Given the description of an element on the screen output the (x, y) to click on. 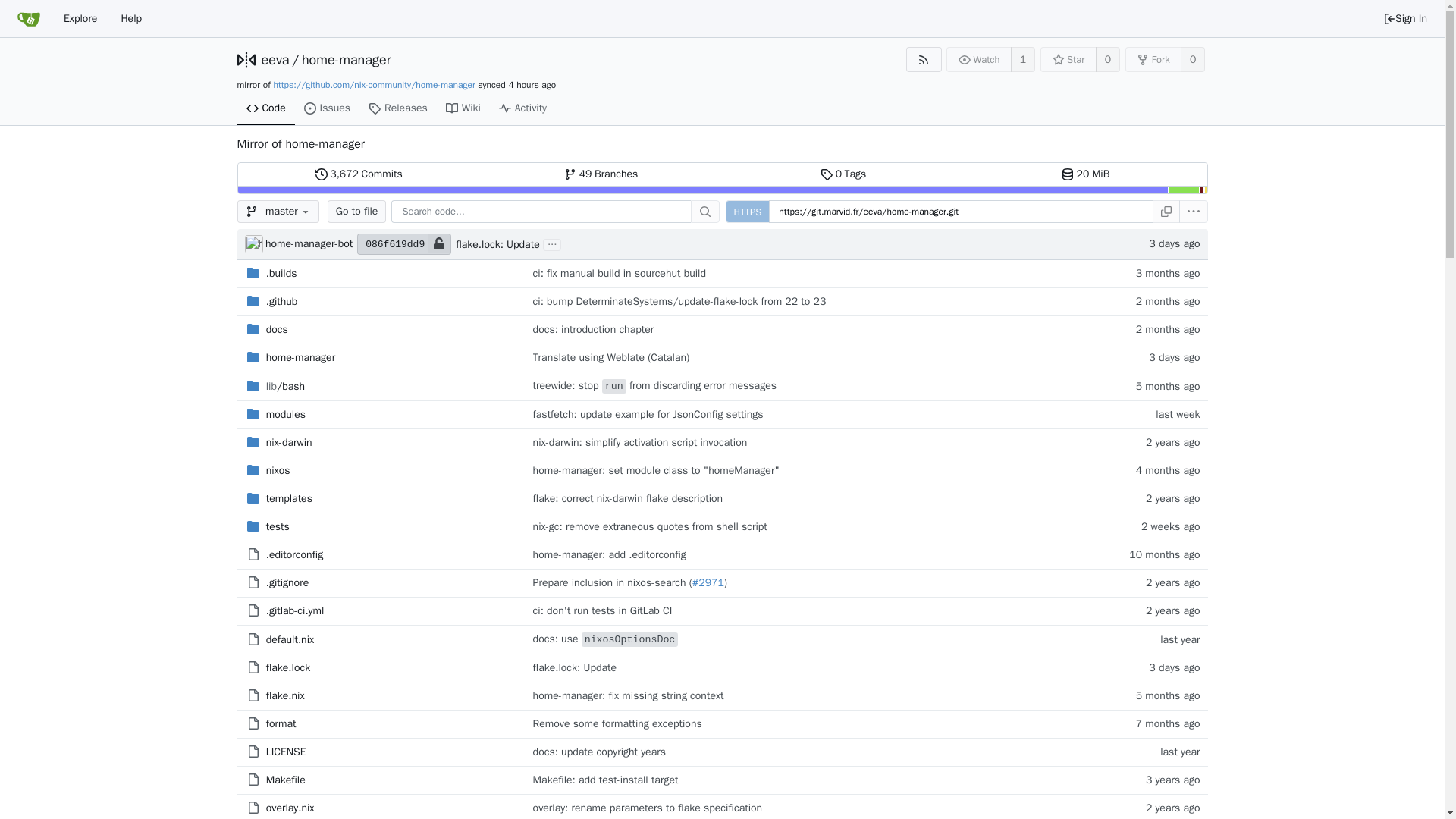
home-manager-bot (842, 173)
.builds (253, 244)
Code (281, 273)
No known key found for this signature in database (264, 108)
0 (440, 243)
0 (1192, 59)
Watch (1107, 59)
.github (978, 59)
eeva (282, 301)
